Given the description of an element on the screen output the (x, y) to click on. 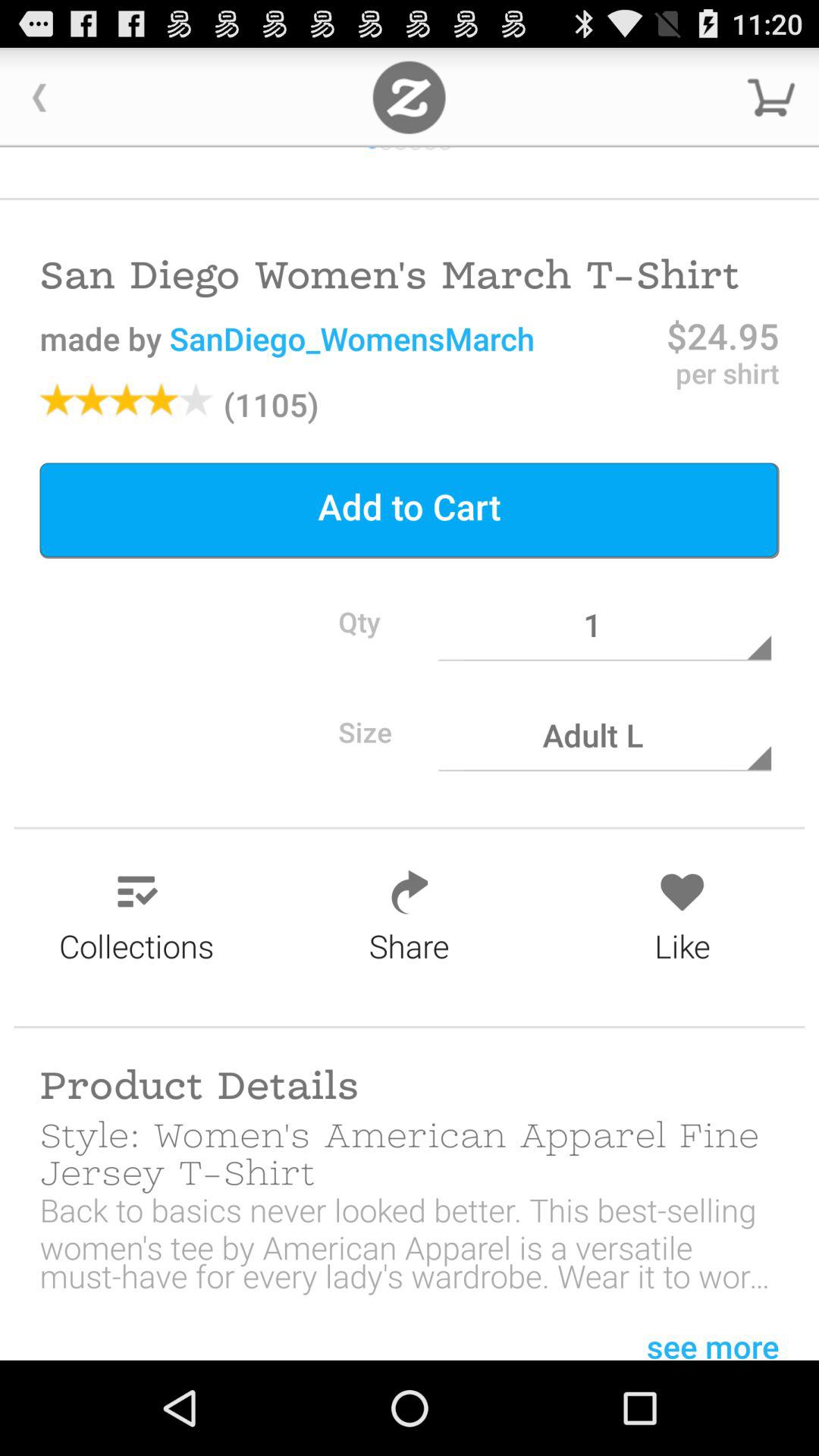
go to my shopping cart (771, 97)
